Given the description of an element on the screen output the (x, y) to click on. 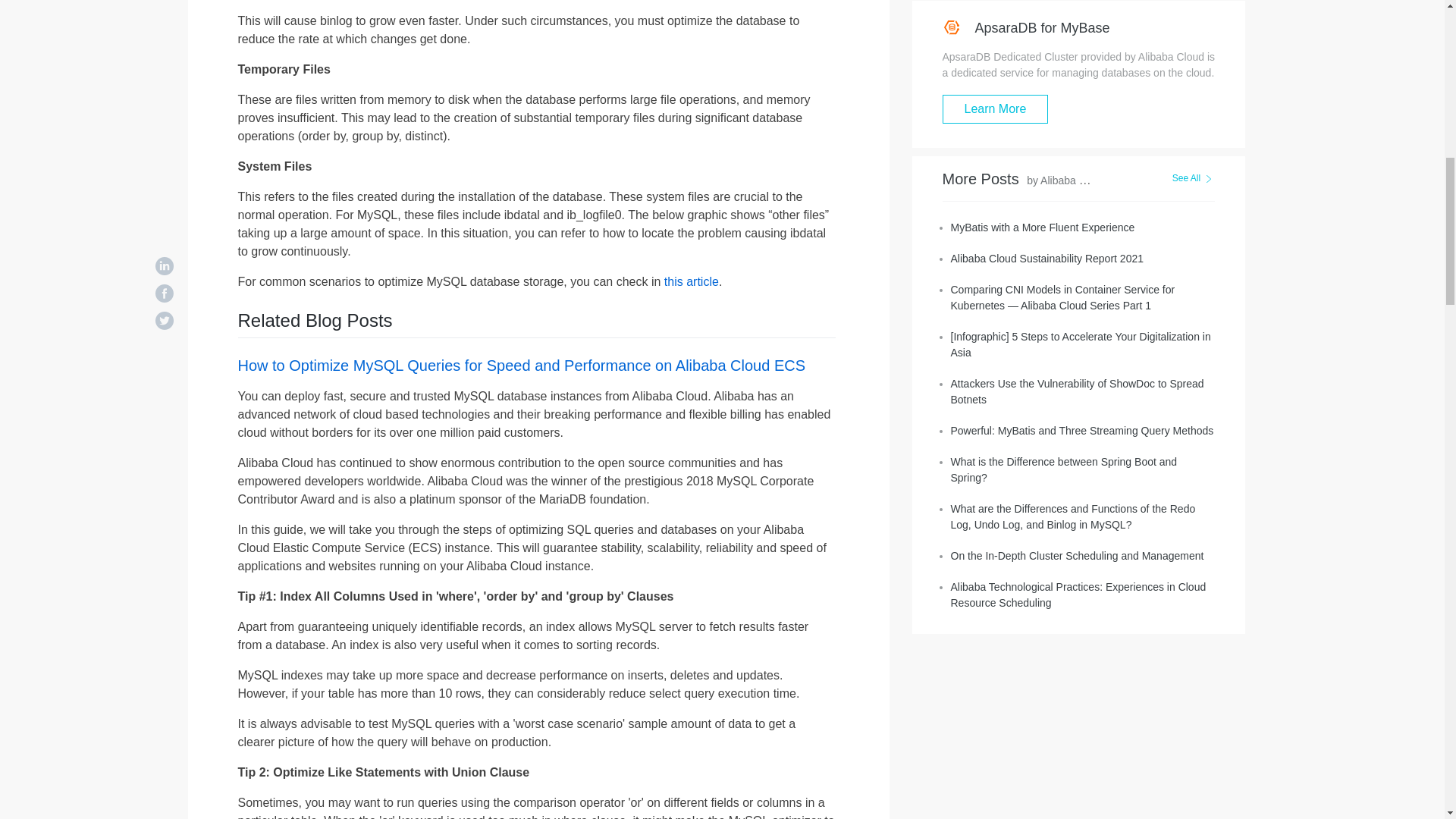
this article (691, 281)
